Given the description of an element on the screen output the (x, y) to click on. 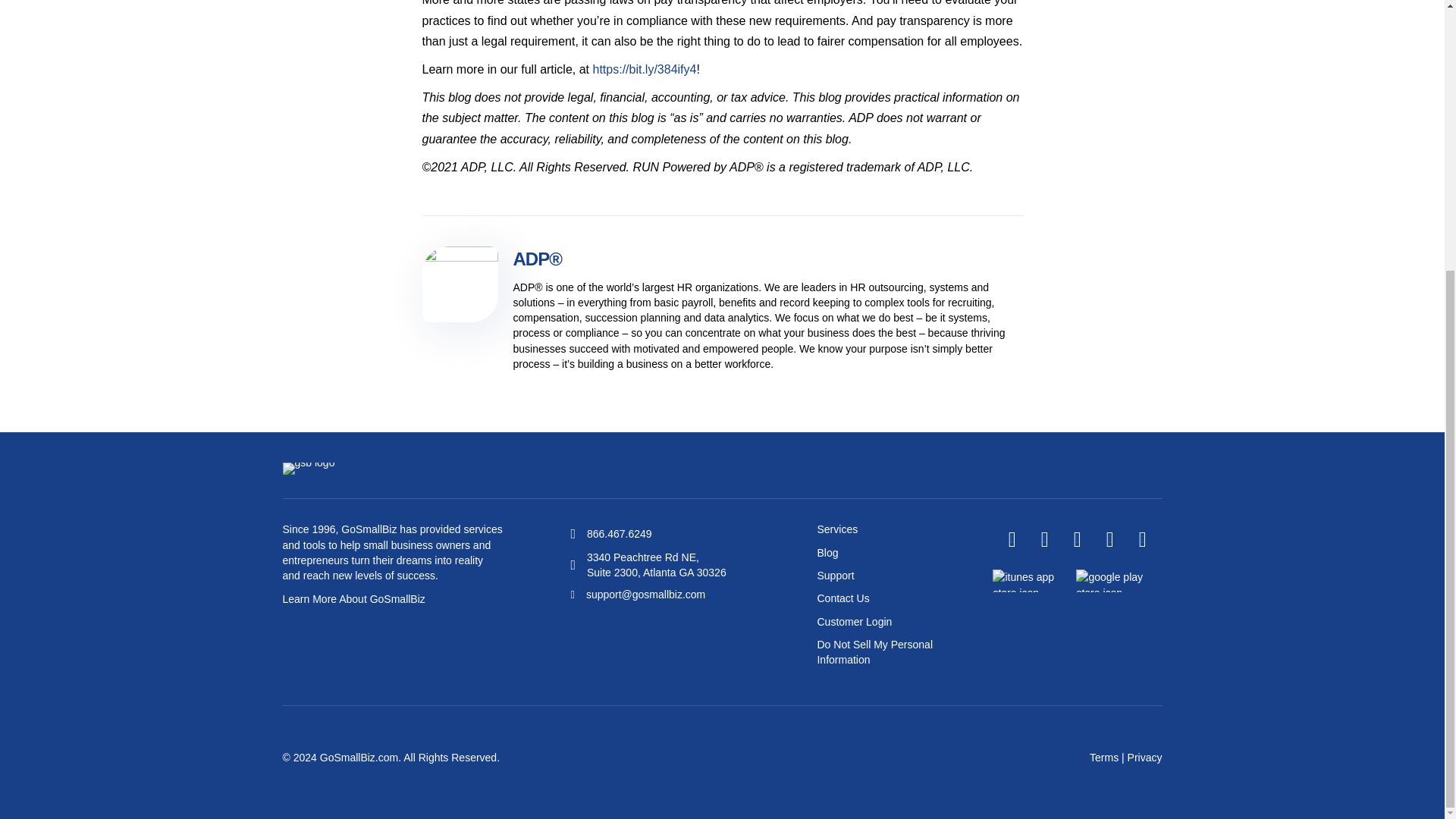
866.467.6249 (619, 533)
Learn More About GoSmallBiz (353, 598)
Linkedin (1077, 539)
Blog (827, 552)
Twitter (1044, 539)
Services (836, 529)
Contact Us (842, 598)
Youtube (1109, 539)
Privacy (1143, 757)
Group 3 (308, 468)
Facebook (1011, 539)
Terms (1103, 757)
Do Not Sell My Personal Information (874, 651)
Email (1142, 539)
Support (834, 575)
